Given the description of an element on the screen output the (x, y) to click on. 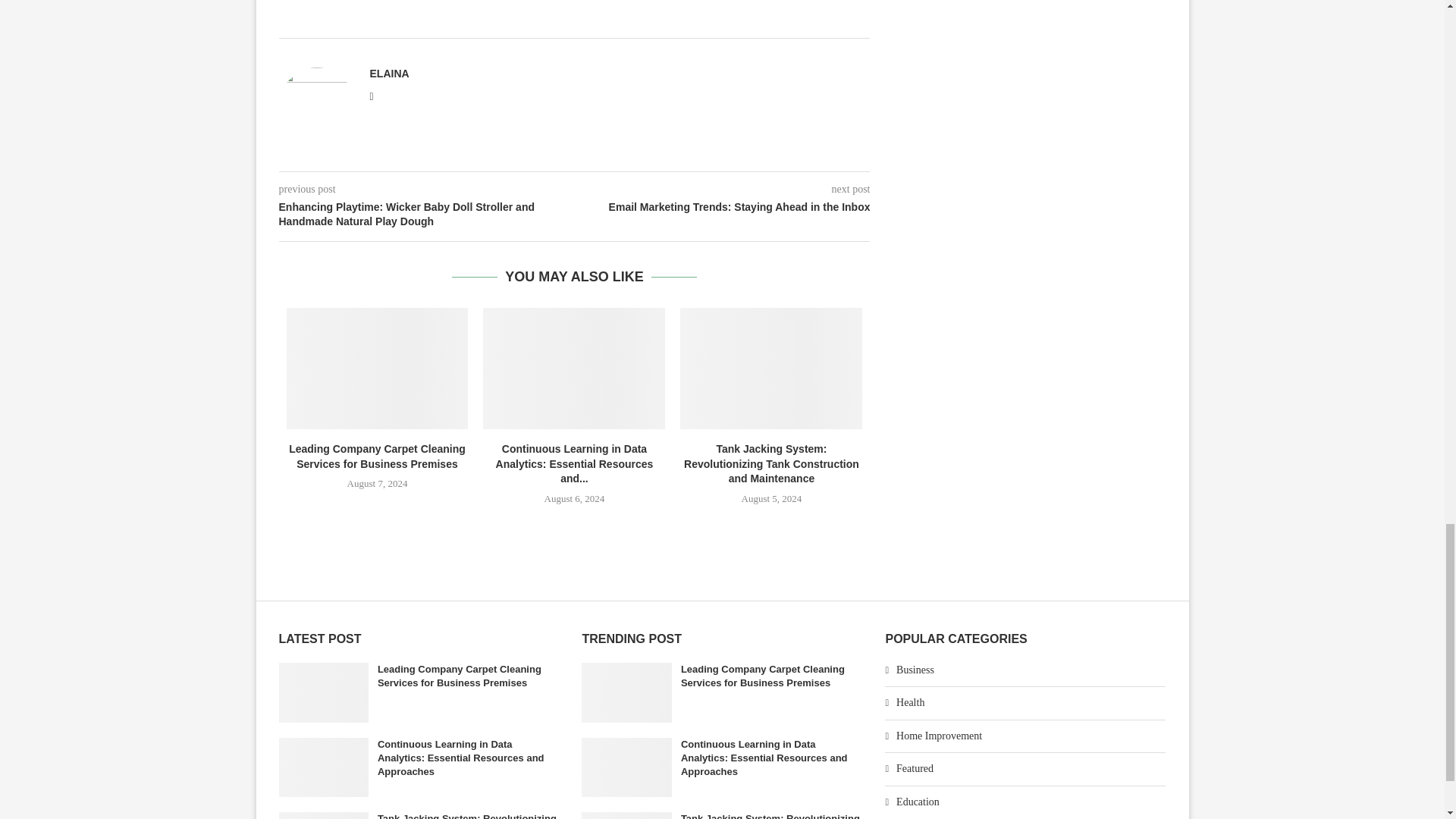
Author Elaina (389, 73)
